Given the description of an element on the screen output the (x, y) to click on. 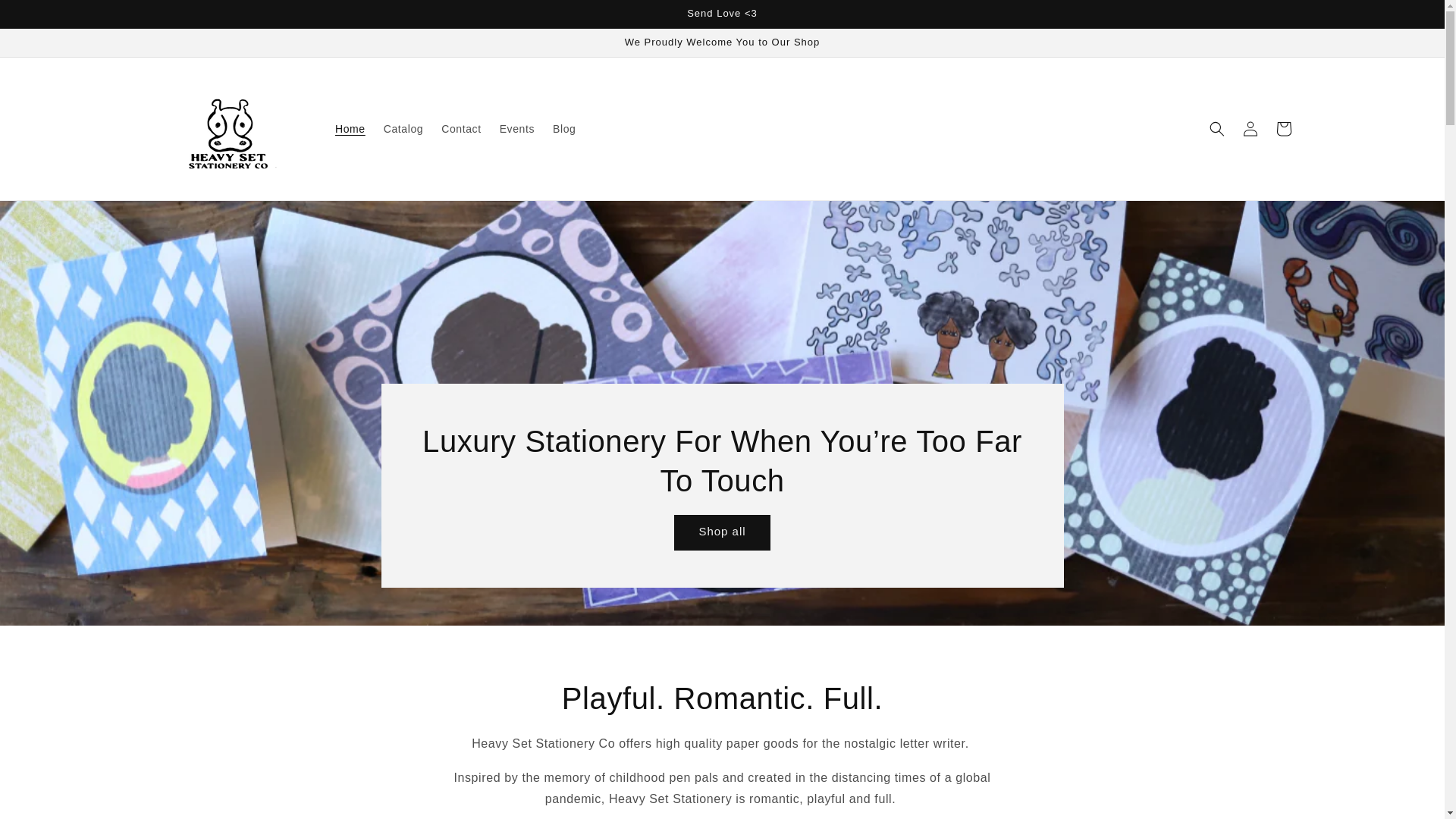
Blog (564, 128)
Log in (1249, 128)
Home (350, 128)
Shop all (721, 532)
Catalog (403, 128)
Skip to content (45, 16)
Cart (1283, 128)
Events (516, 128)
Contact (460, 128)
